Given the description of an element on the screen output the (x, y) to click on. 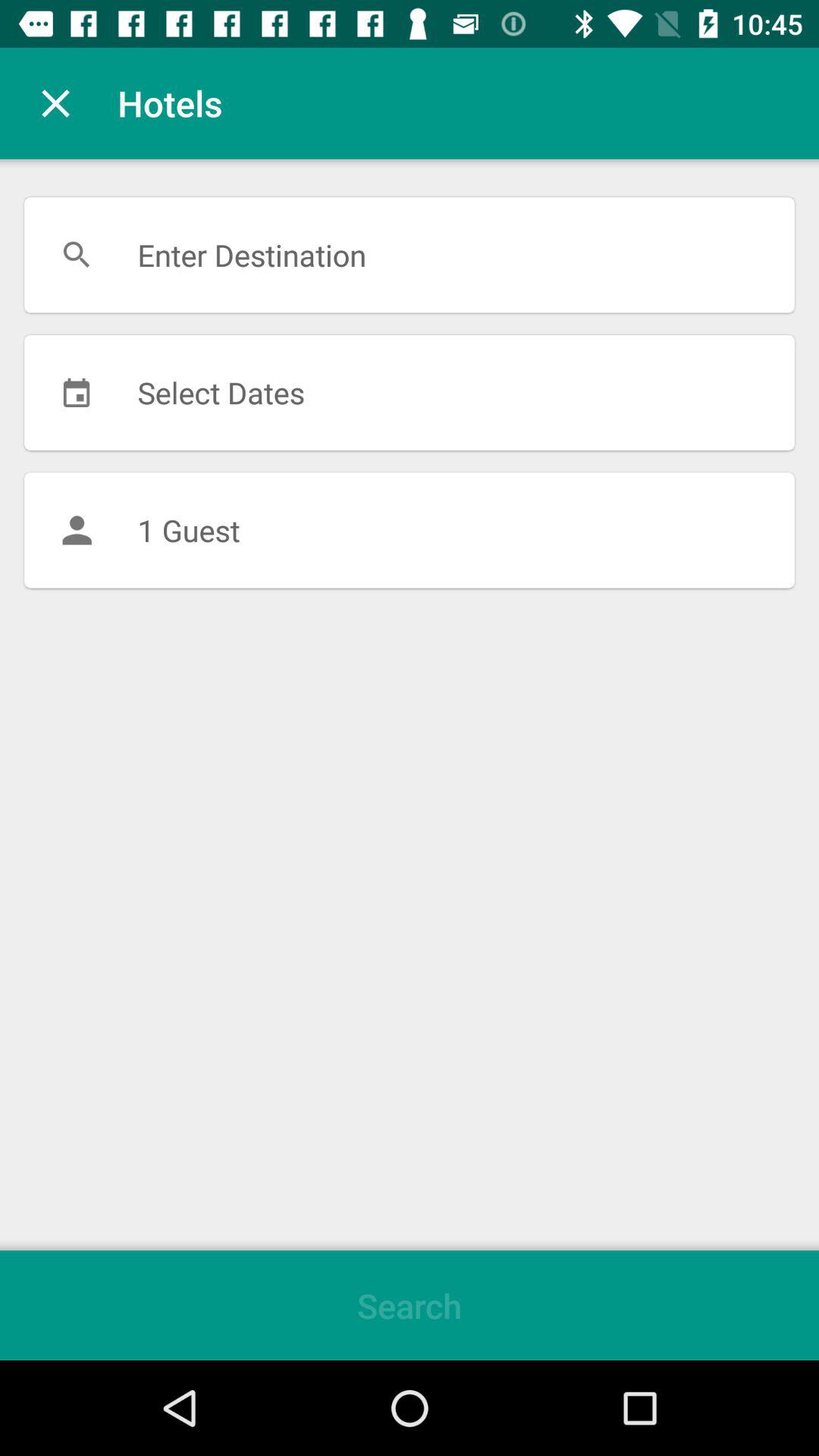
launch the enter destination (409, 254)
